Given the description of an element on the screen output the (x, y) to click on. 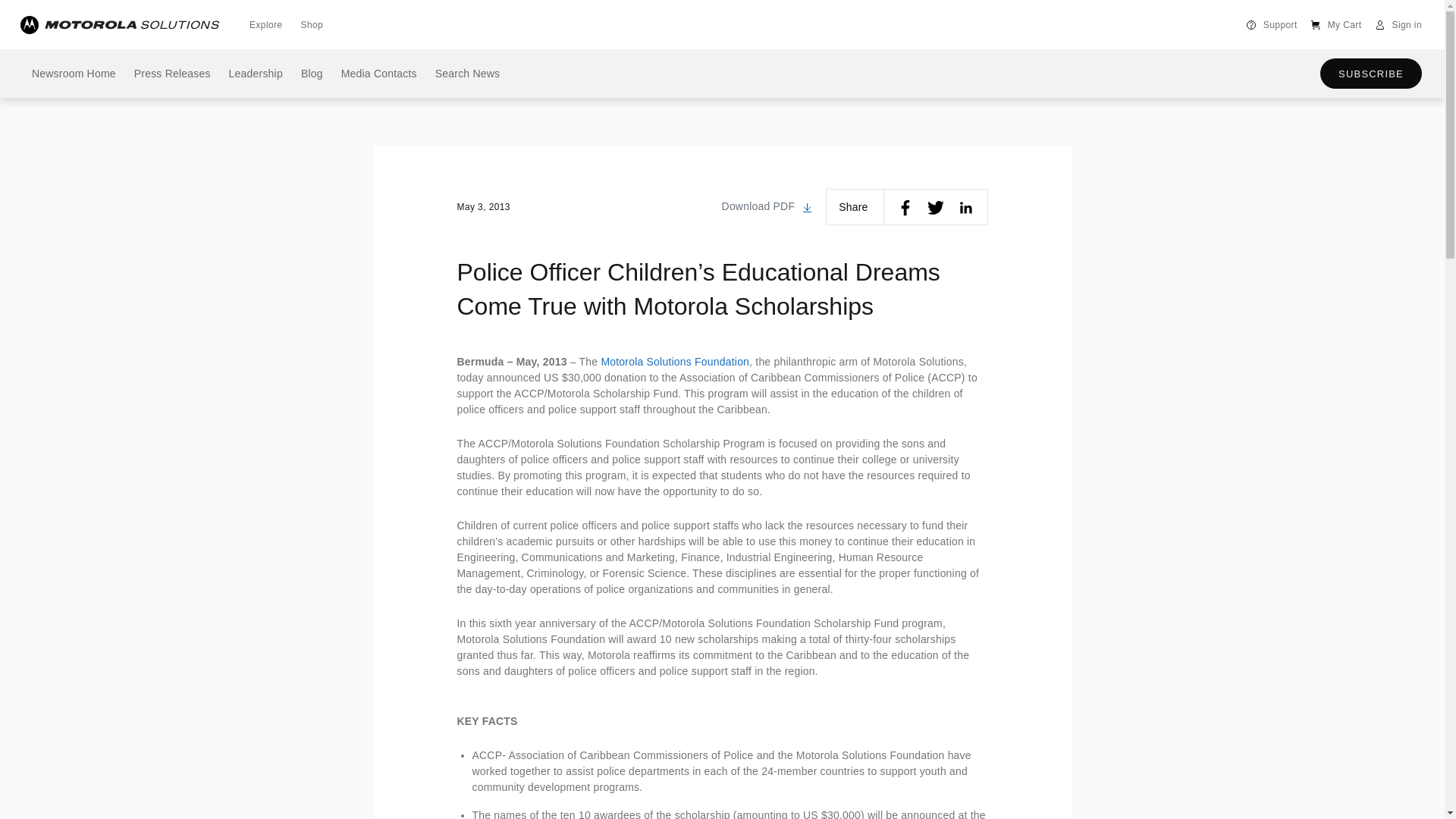
Primary Navigation (136, 6)
Footer (316, 6)
My Cart (1335, 24)
Shop (311, 24)
Sign in (1398, 24)
Support (1271, 24)
Explore (266, 24)
Main Content (243, 6)
